Given the description of an element on the screen output the (x, y) to click on. 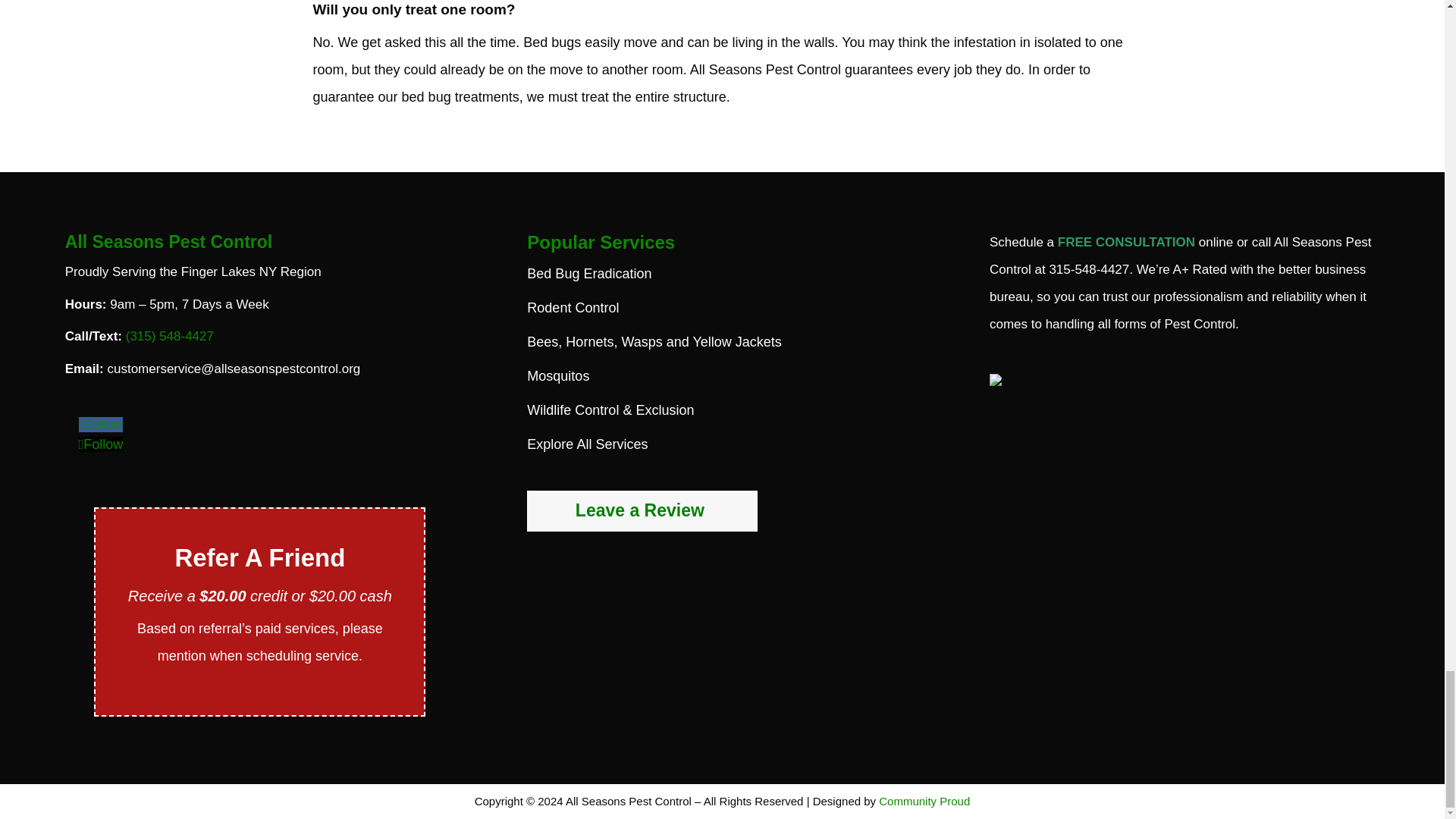
Follow on X (100, 444)
Follow on Facebook (100, 424)
All Seasons Pest Control Service Area (1111, 379)
